Given the description of an element on the screen output the (x, y) to click on. 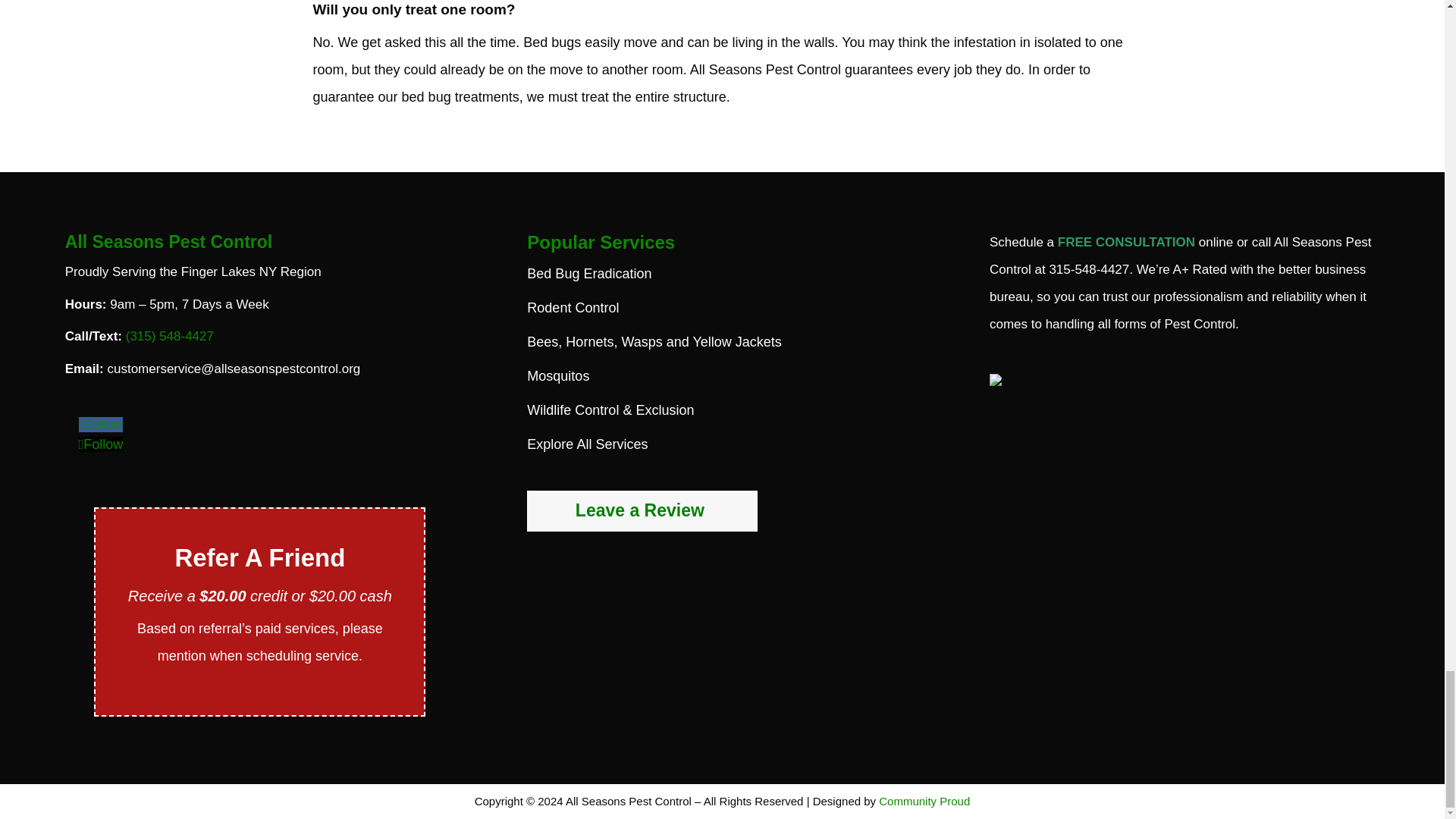
Follow on X (100, 444)
Follow on Facebook (100, 424)
All Seasons Pest Control Service Area (1111, 379)
